Given the description of an element on the screen output the (x, y) to click on. 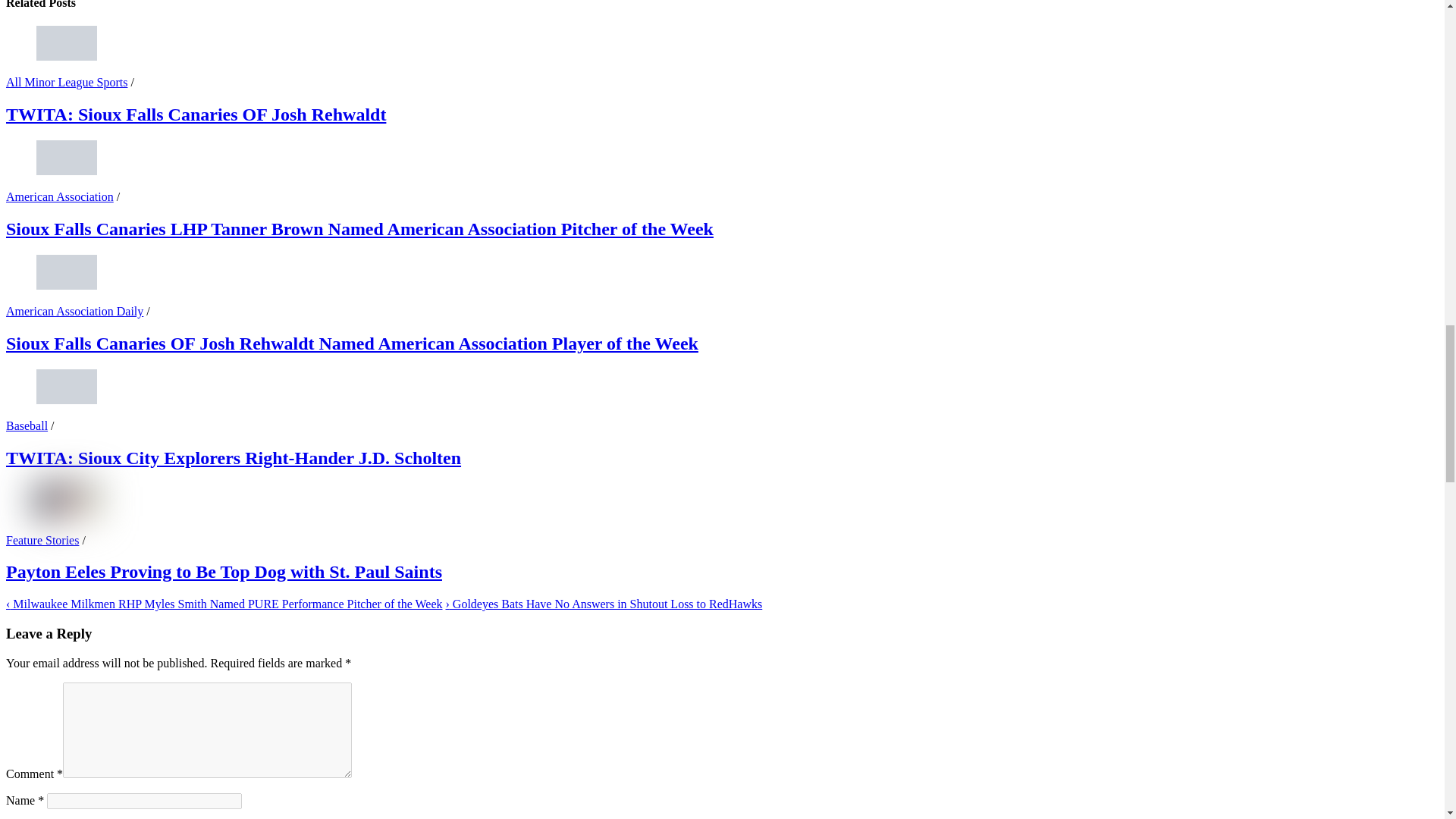
TWITA: Sioux City Explorers Right-Hander J.D. Scholten (233, 457)
TWITA Lead 2021 (66, 386)
TWITA Lead 2021 (66, 42)
Feature Stories (41, 540)
TWITA: Sioux City Explorers Right-Hander J.D. Scholten (233, 457)
Payton Eeles Proving to Be Top Dog with St. Paul Saints (223, 571)
Baseball (26, 425)
Tanner Brown POW (66, 157)
Payton Eeles 3 (66, 501)
Payton Eeles Proving to Be Top Dog with St. Paul Saints (223, 571)
Josh Rehwaldt POW (66, 271)
TWITA: Sioux Falls Canaries OF Josh Rehwaldt (195, 114)
All Minor League Sports (66, 82)
